Given the description of an element on the screen output the (x, y) to click on. 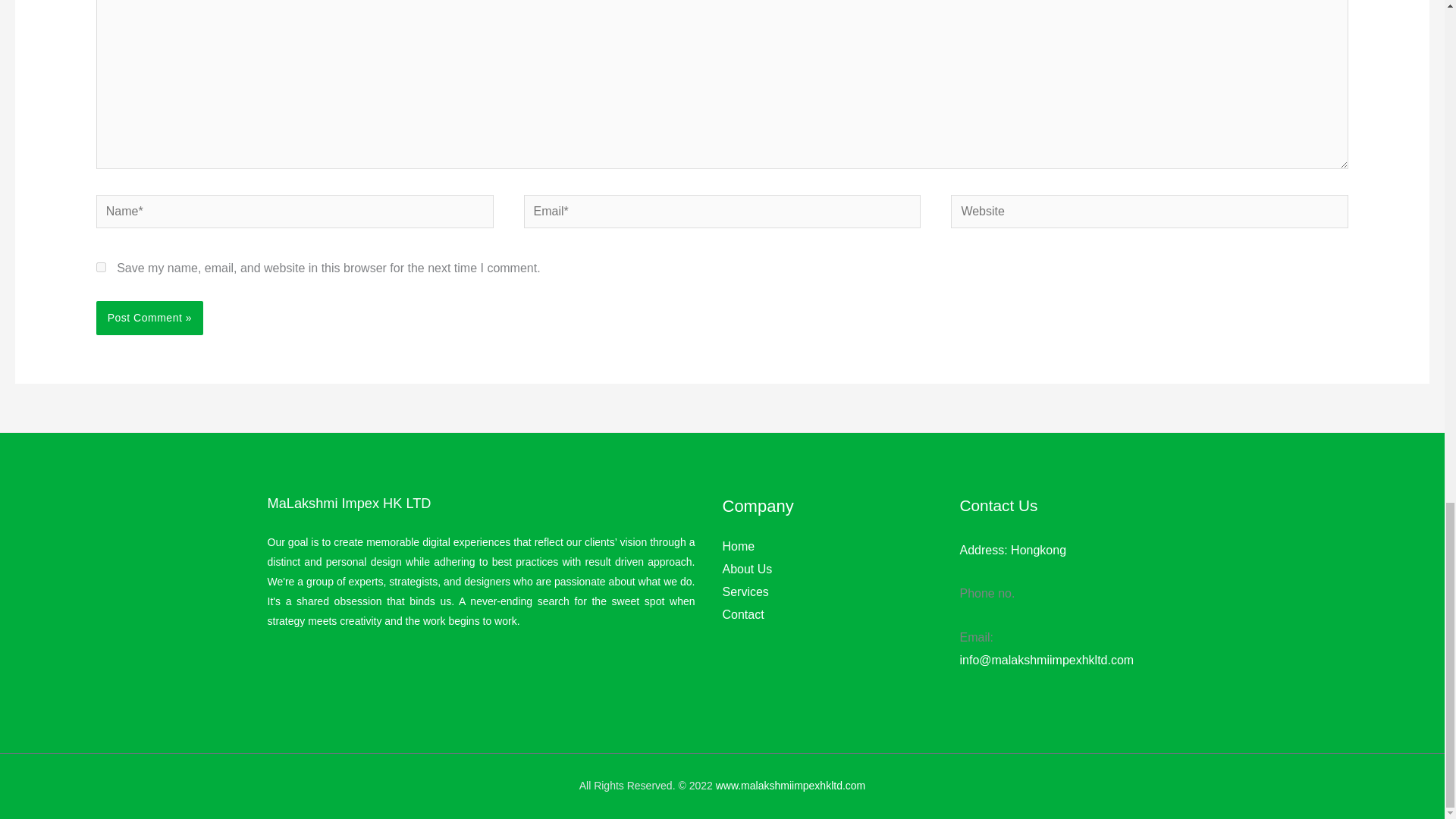
yes (101, 266)
www.malakshmiimpexhkltd.com (791, 785)
About Us (746, 568)
Services (745, 591)
Home (738, 545)
Contact (742, 614)
